Given the description of an element on the screen output the (x, y) to click on. 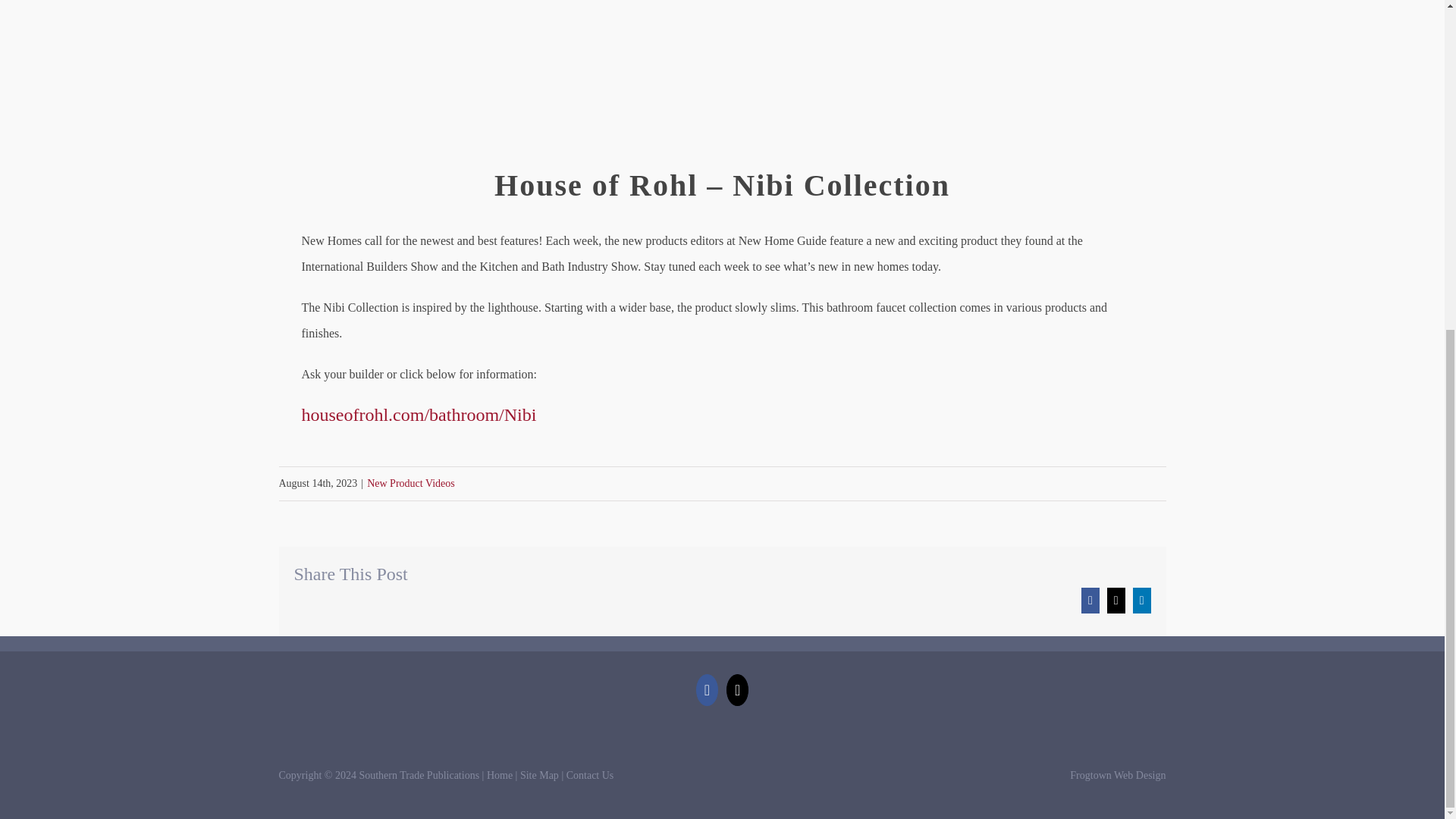
Frogtown (1118, 775)
The House of Rohl - Nibi Collection - Product of the Week (721, 75)
Site (539, 775)
